Given the description of an element on the screen output the (x, y) to click on. 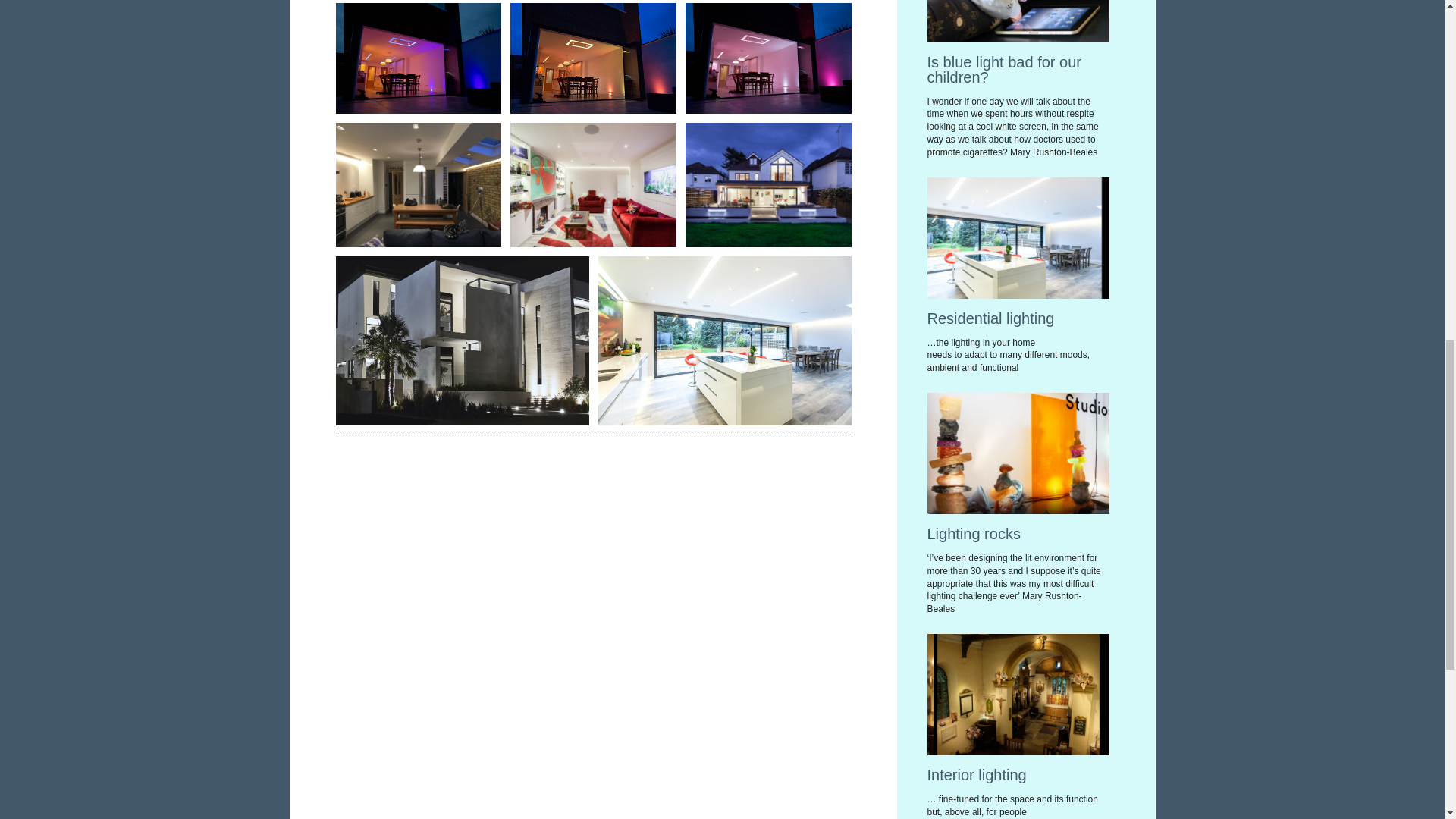
Lighting rocks (973, 533)
Is blue light bad for our children? (1003, 69)
Residential lighting (990, 318)
